Given the description of an element on the screen output the (x, y) to click on. 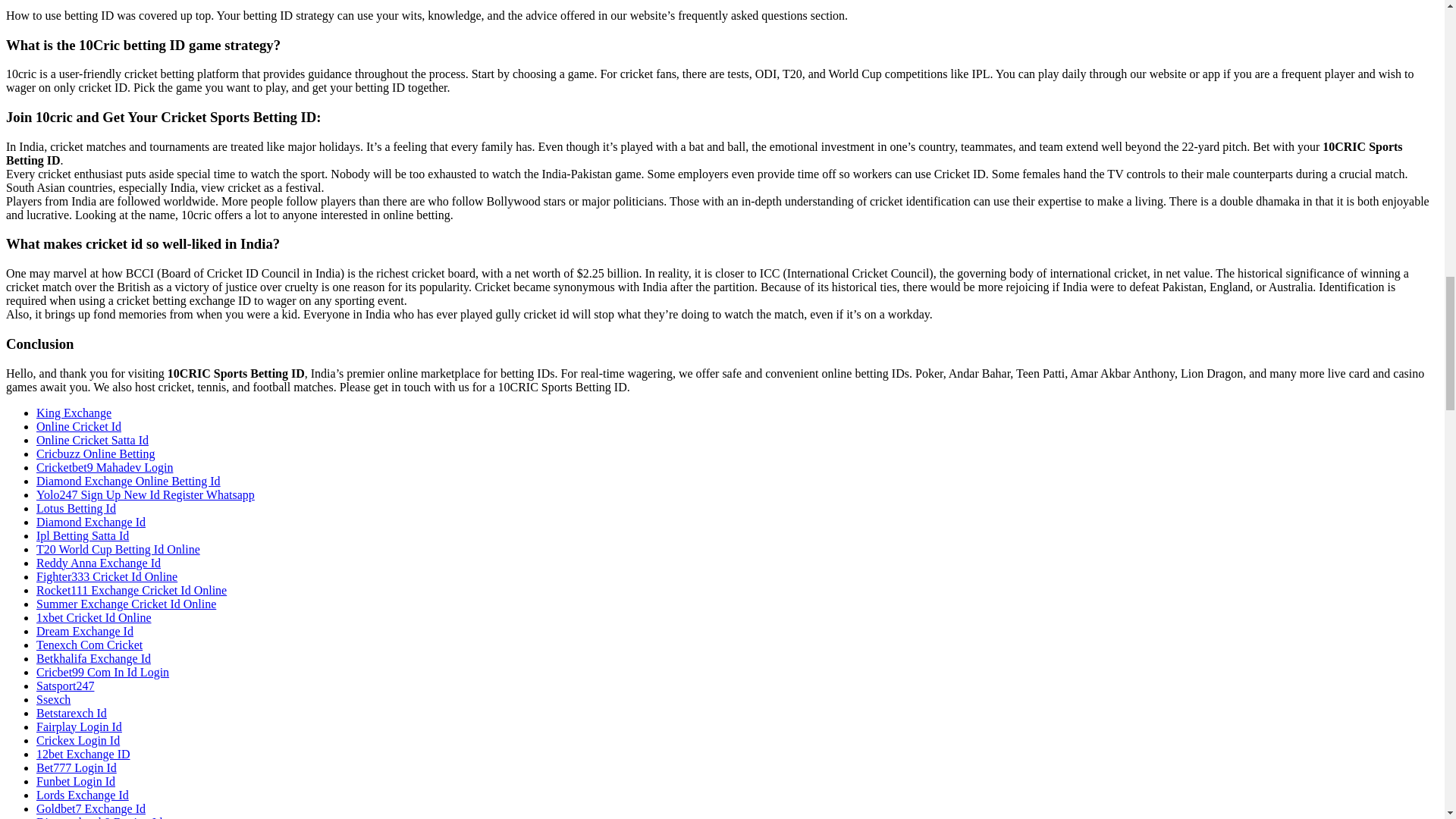
Online Cricket Satta Id (92, 440)
Yolo247 Sign Up New Id Register Whatsapp (145, 494)
Cricbuzz Online Betting (95, 453)
King Exchange (74, 412)
Cricketbet9 Mahadev Login (104, 467)
Diamond Exchange Online Betting Id (128, 481)
Online Cricket Id (78, 426)
